Given the description of an element on the screen output the (x, y) to click on. 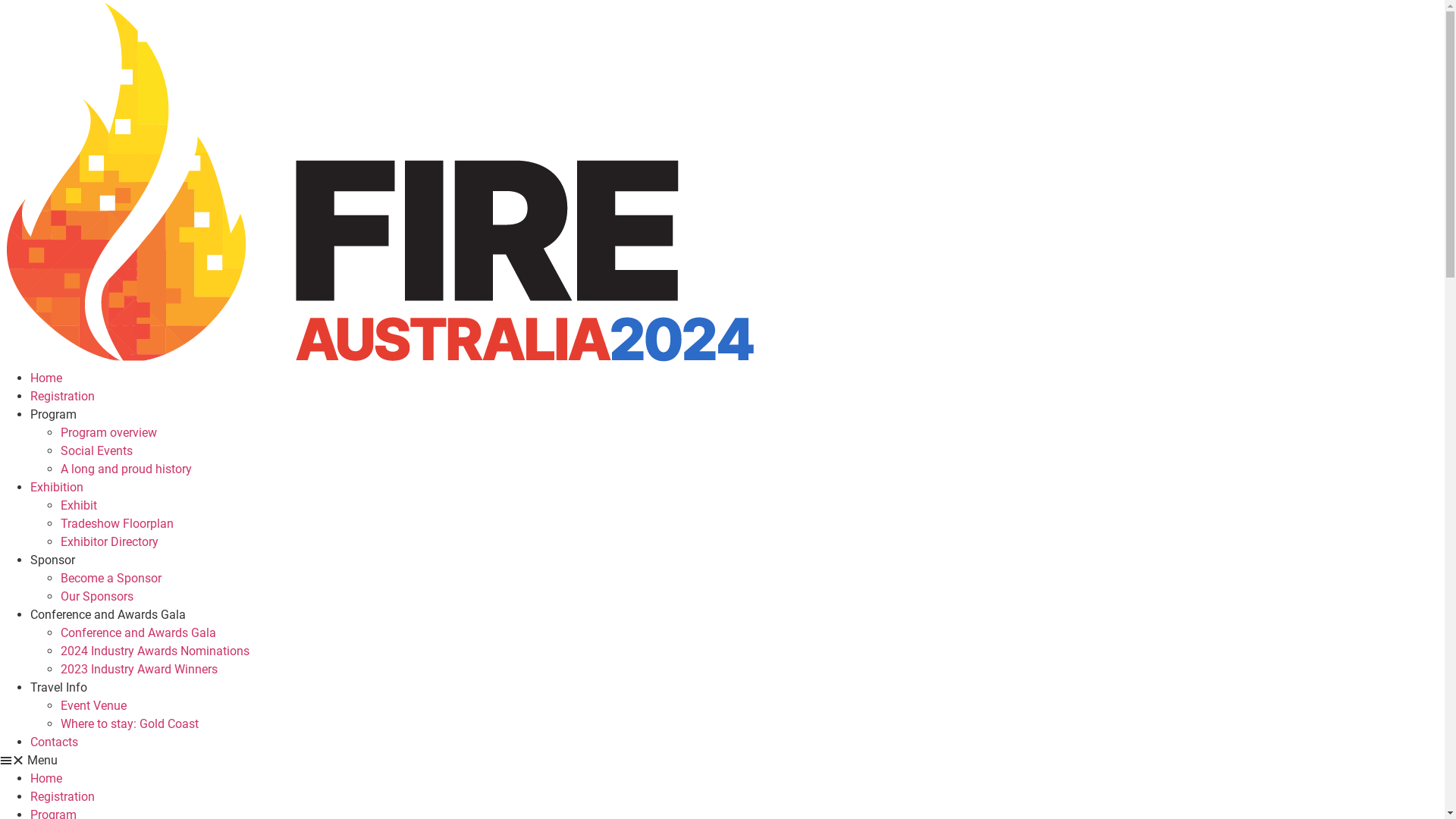
Program overview Element type: text (108, 432)
Sponsor Element type: text (52, 559)
2023 Industry Award Winners Element type: text (138, 669)
Our Sponsors Element type: text (96, 596)
Exhibitor Directory Element type: text (109, 541)
Registration Element type: text (62, 396)
Registration Element type: text (62, 796)
Conference and Awards Gala Element type: text (138, 632)
Travel Info Element type: text (58, 687)
Conference and Awards Gala Element type: text (107, 614)
Exhibition Element type: text (56, 487)
Exhibit Element type: text (78, 505)
A long and proud history Element type: text (125, 468)
Home Element type: text (46, 377)
Home Element type: text (46, 778)
Contacts Element type: text (54, 741)
2024 Industry Awards Nominations Element type: text (154, 650)
Tradeshow Floorplan Element type: text (116, 523)
Program Element type: text (53, 414)
Where to stay: Gold Coast Element type: text (129, 723)
Social Events Element type: text (96, 450)
Event Venue Element type: text (93, 705)
Become a Sponsor Element type: text (110, 578)
